Given the description of an element on the screen output the (x, y) to click on. 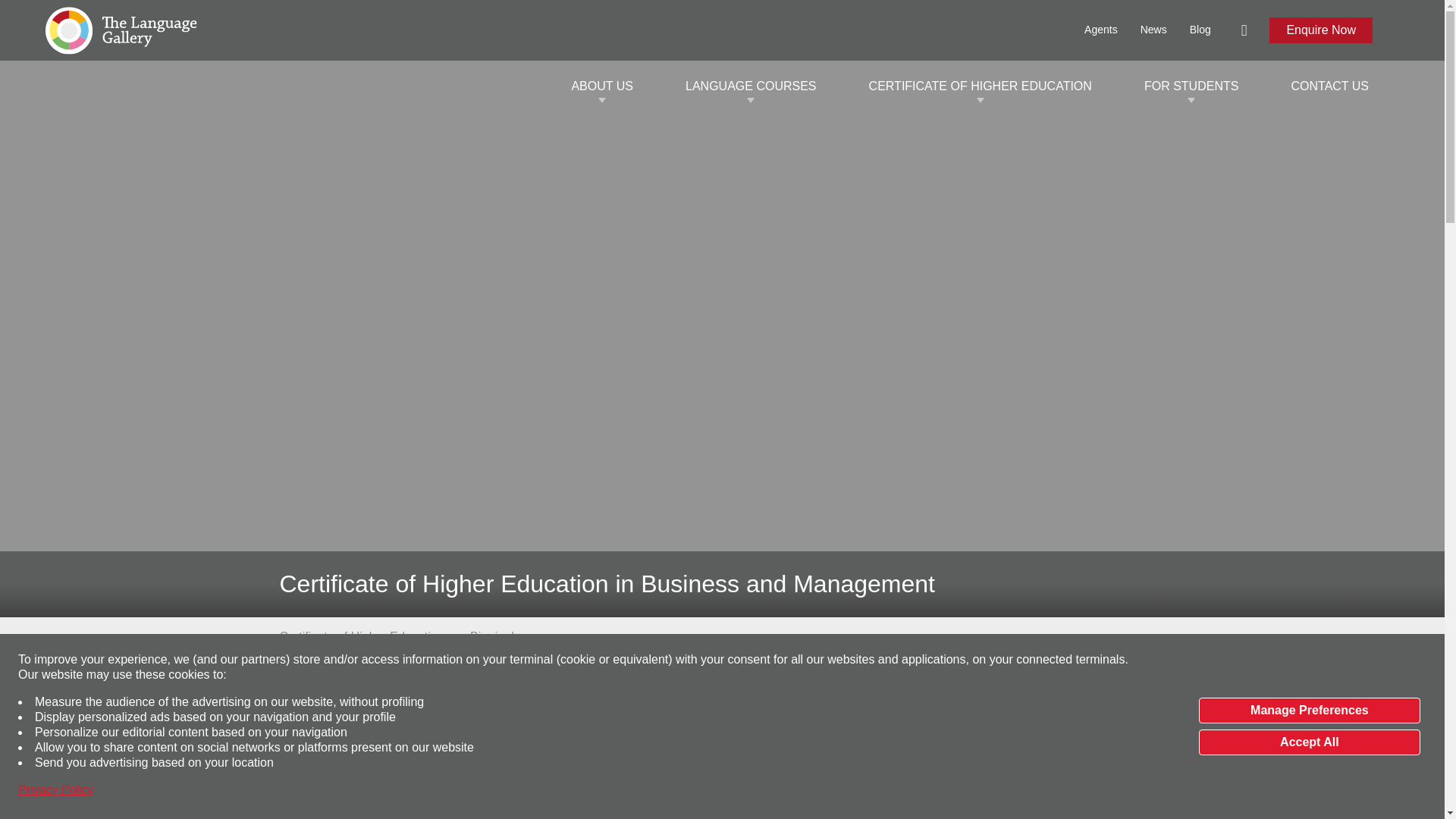
Certificate of Higher Education (361, 636)
ABOUT US (601, 85)
FOR STUDENTS (1191, 85)
Birmingham (502, 636)
Birmingham (502, 636)
Agents (1101, 29)
Enquire Now (1321, 30)
Blog (1200, 29)
Privacy Policy (55, 789)
CONTACT US (1329, 85)
